Given the description of an element on the screen output the (x, y) to click on. 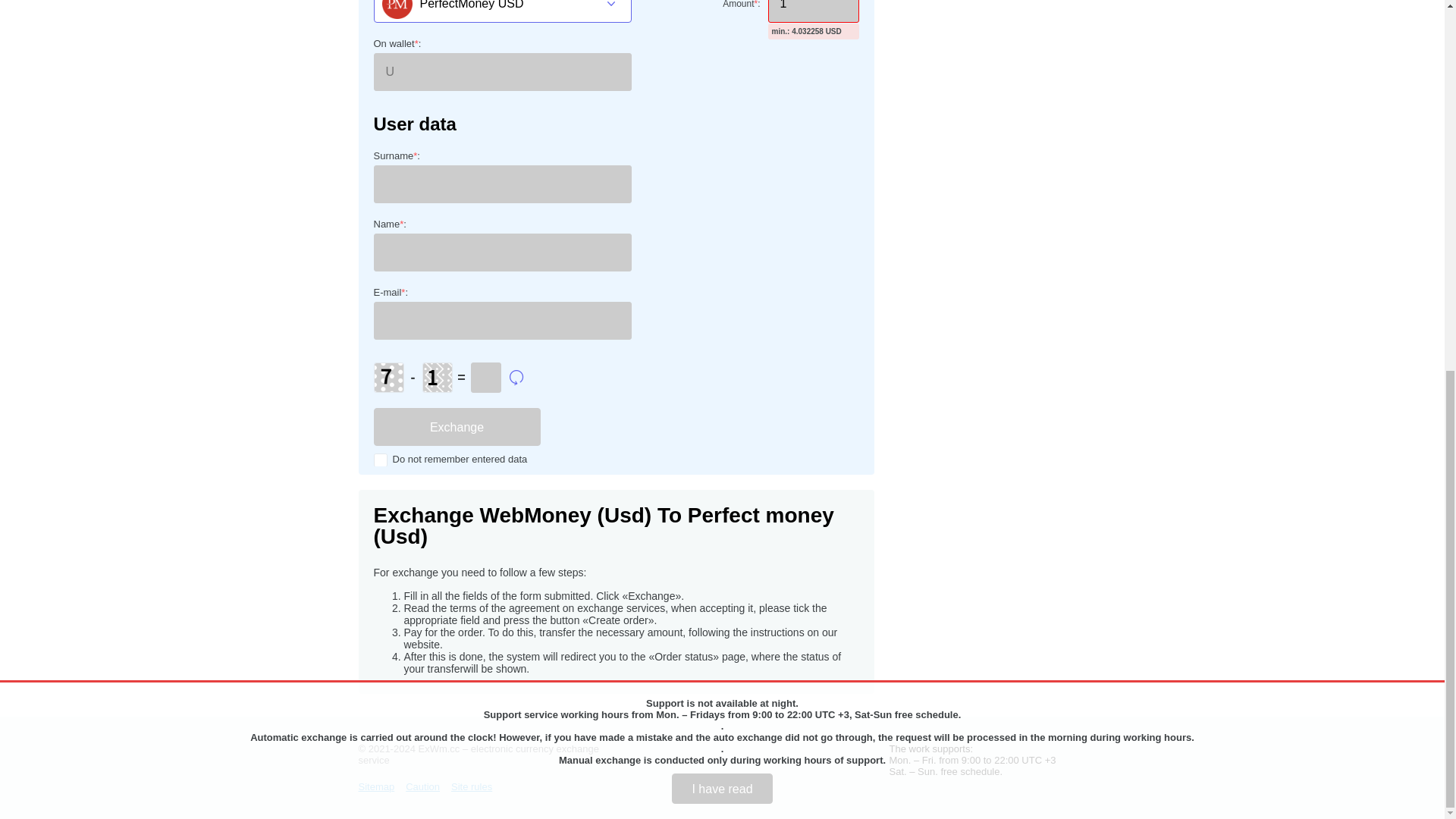
Sitemap (376, 786)
Site rules (471, 786)
1 (813, 11)
replace task (517, 377)
I have read (721, 114)
Exchange (456, 426)
Exchange (456, 426)
Caution (422, 786)
I have read (721, 114)
